Given the description of an element on the screen output the (x, y) to click on. 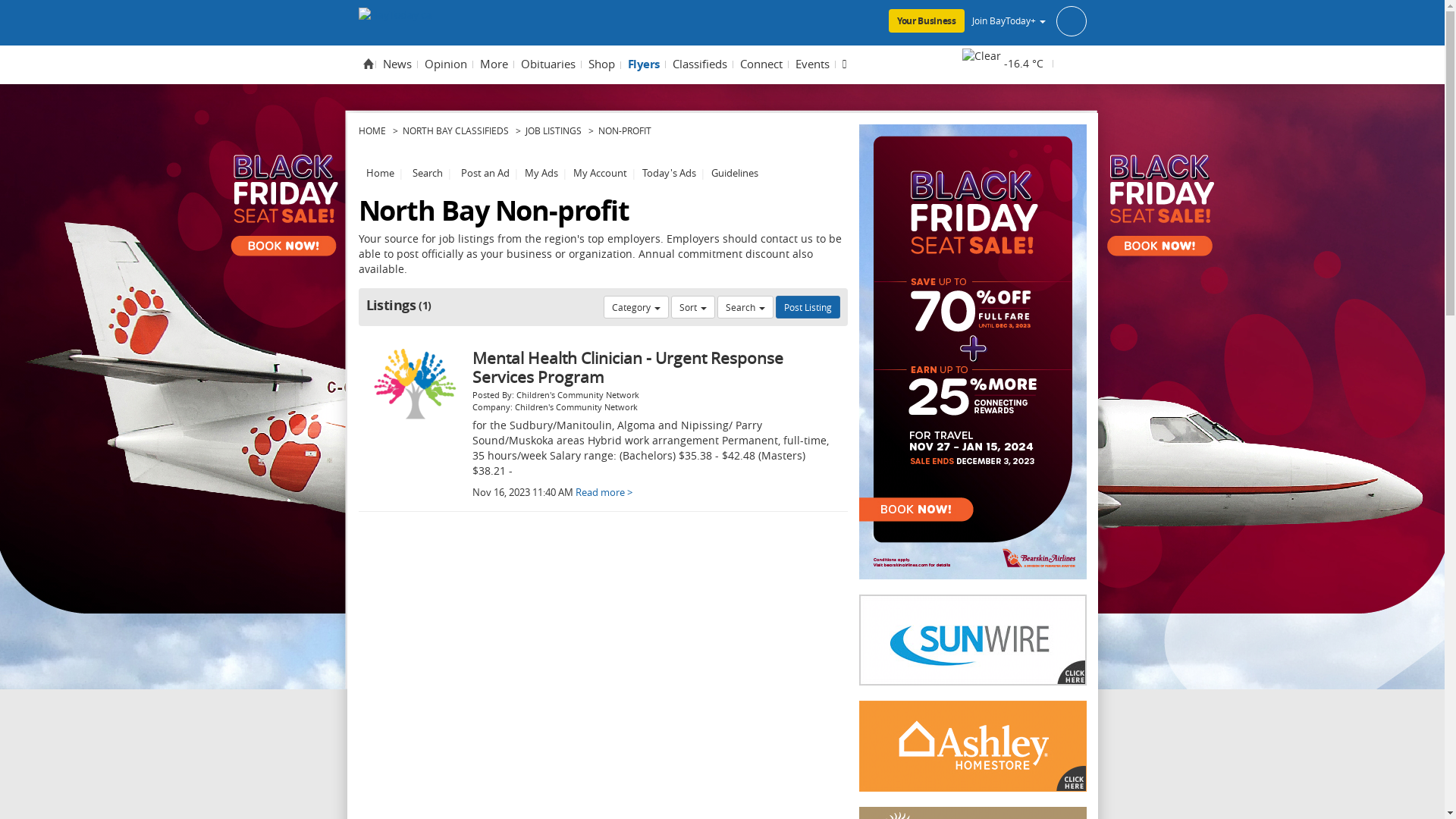
Sort Element type: text (692, 306)
Classifieds Element type: text (699, 64)
Obituaries Element type: text (548, 64)
Today's Ads Element type: text (667, 163)
Category Element type: text (635, 306)
Join BayToday+ Element type: text (1029, 19)
3rd party ad content Element type: hover (971, 351)
Search Element type: text (745, 306)
3rd party ad content Element type: hover (971, 745)
Home Element type: text (367, 63)
Flyers Element type: text (642, 65)
HOME Element type: text (371, 130)
Your Business Element type: text (925, 20)
NORTH BAY CLASSIFIEDS Element type: text (454, 130)
JOB LISTINGS Element type: text (552, 130)
My Account Element type: text (599, 163)
Home Element type: text (379, 163)
My Ads Element type: text (541, 163)
Events Element type: text (812, 64)
3rd party ad content Element type: hover (722, 10)
Post Listing Element type: text (807, 306)
Guidelines Element type: text (734, 163)
News Element type: text (397, 64)
3rd party ad content Element type: hover (971, 639)
Post an Ad Element type: text (485, 163)
Search Element type: text (427, 163)
NON-PROFIT Element type: text (623, 130)
